Given the description of an element on the screen output the (x, y) to click on. 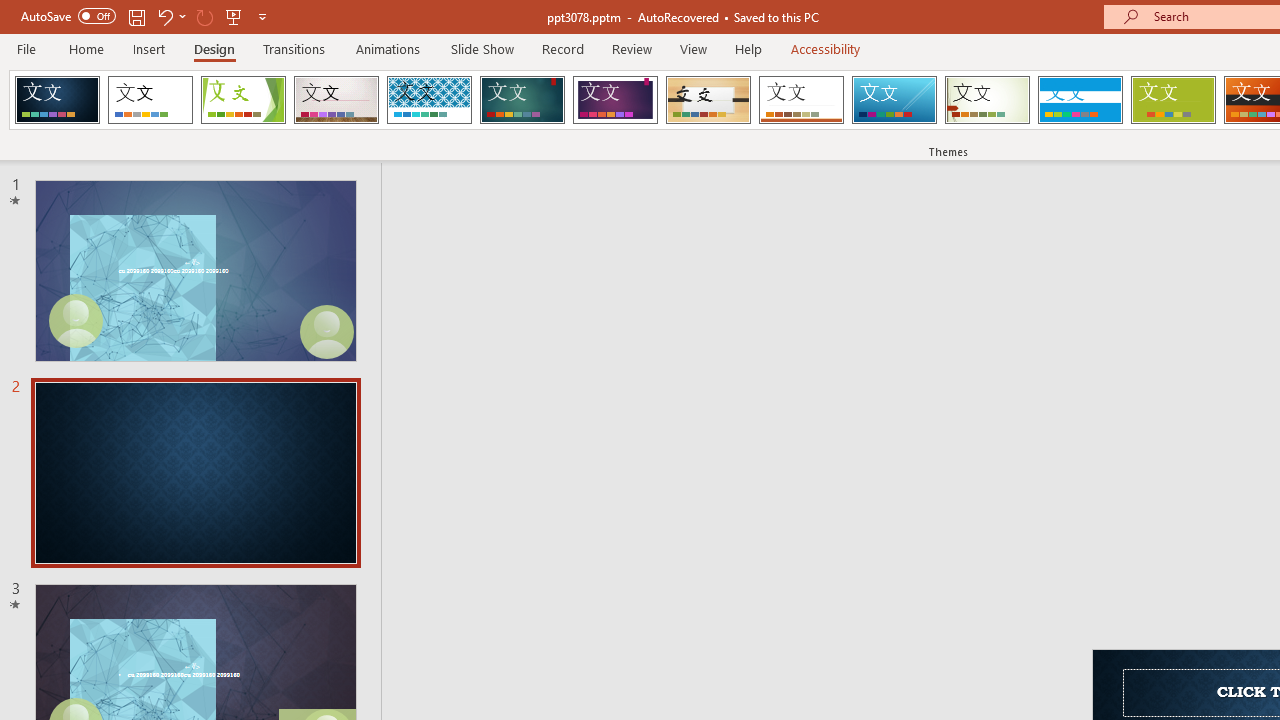
Facet (243, 100)
Ion (522, 100)
